Given the description of an element on the screen output the (x, y) to click on. 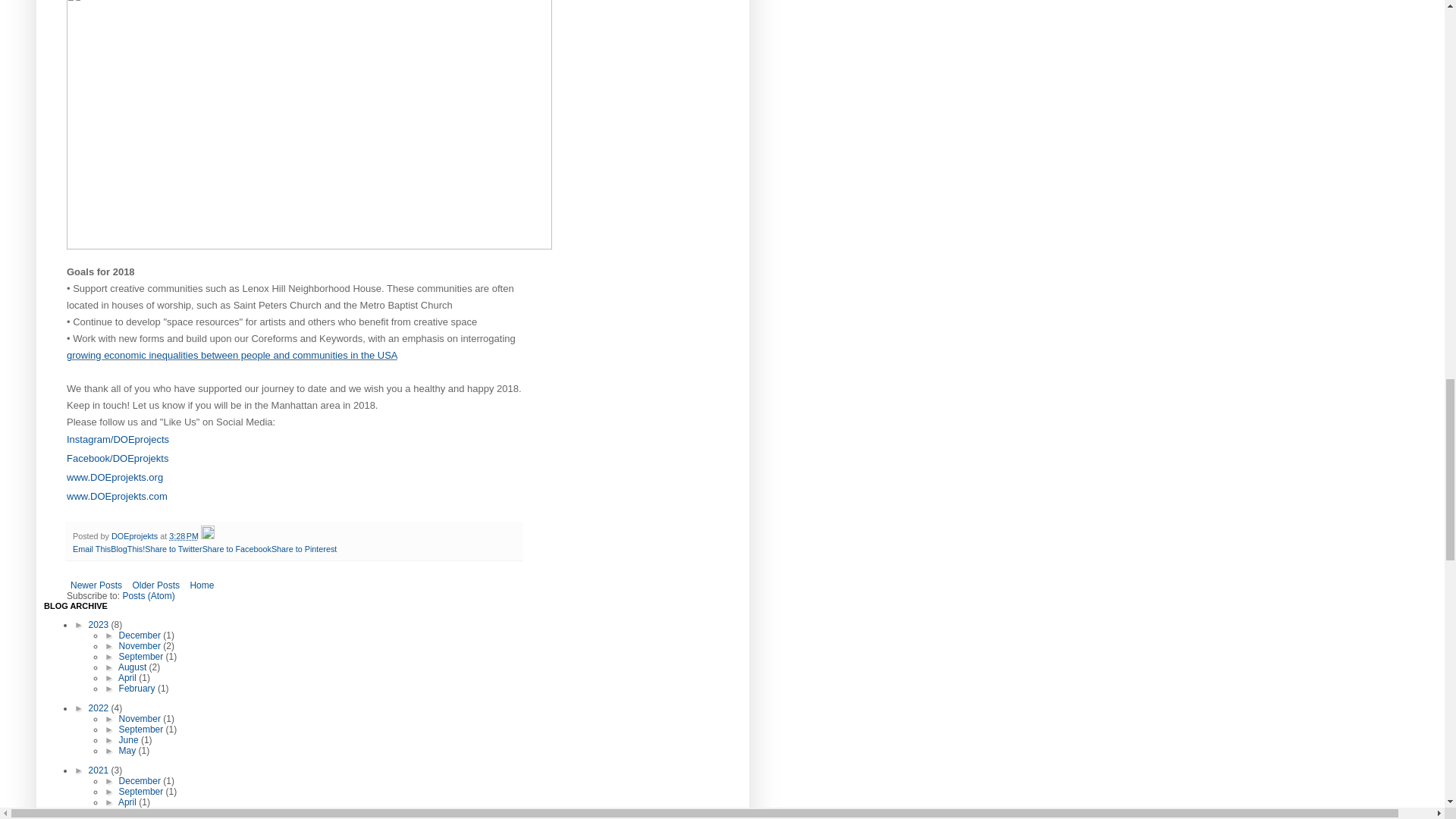
Share to Facebook (236, 548)
Share to Twitter (173, 548)
Email This (91, 548)
Newer Posts (95, 585)
Edit Post (207, 535)
BlogThis! (127, 548)
Older Posts (155, 585)
www.DOEprojekts.com (116, 496)
author profile (136, 535)
Share to Pinterest (303, 548)
Email This (91, 548)
DOEprojekts (136, 535)
Share to Pinterest (303, 548)
